Given the description of an element on the screen output the (x, y) to click on. 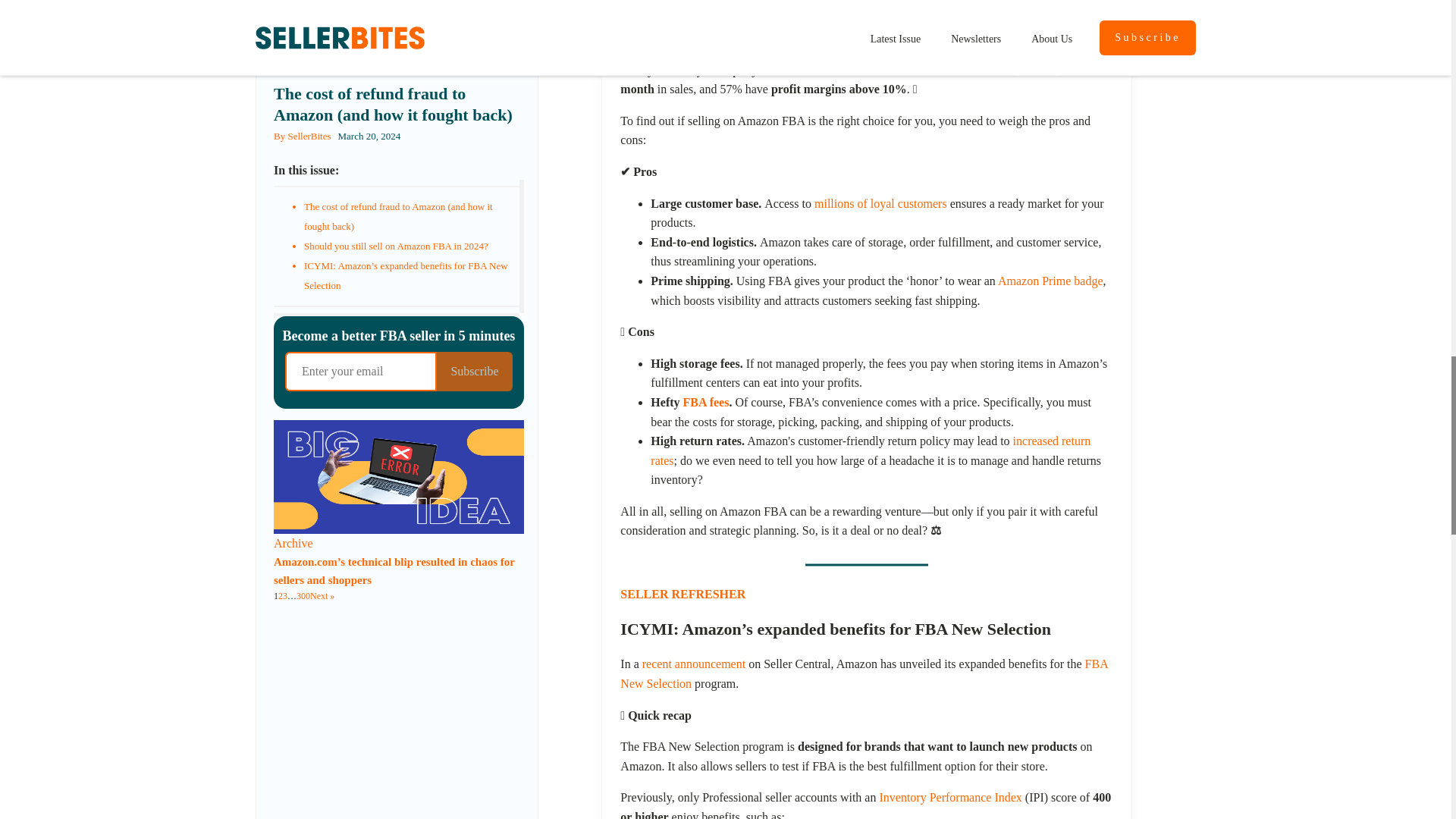
Amazon Prime badge (1050, 280)
According to Jungle Scout (684, 50)
Opens in a new window (709, 2)
over 600,000 FBA sellers (709, 2)
Opens in a new window (880, 203)
Opens in a new window (1027, 50)
Opens in a new window (684, 50)
millions of loyal customers (880, 203)
Opens in a new window (989, 69)
